Given the description of an element on the screen output the (x, y) to click on. 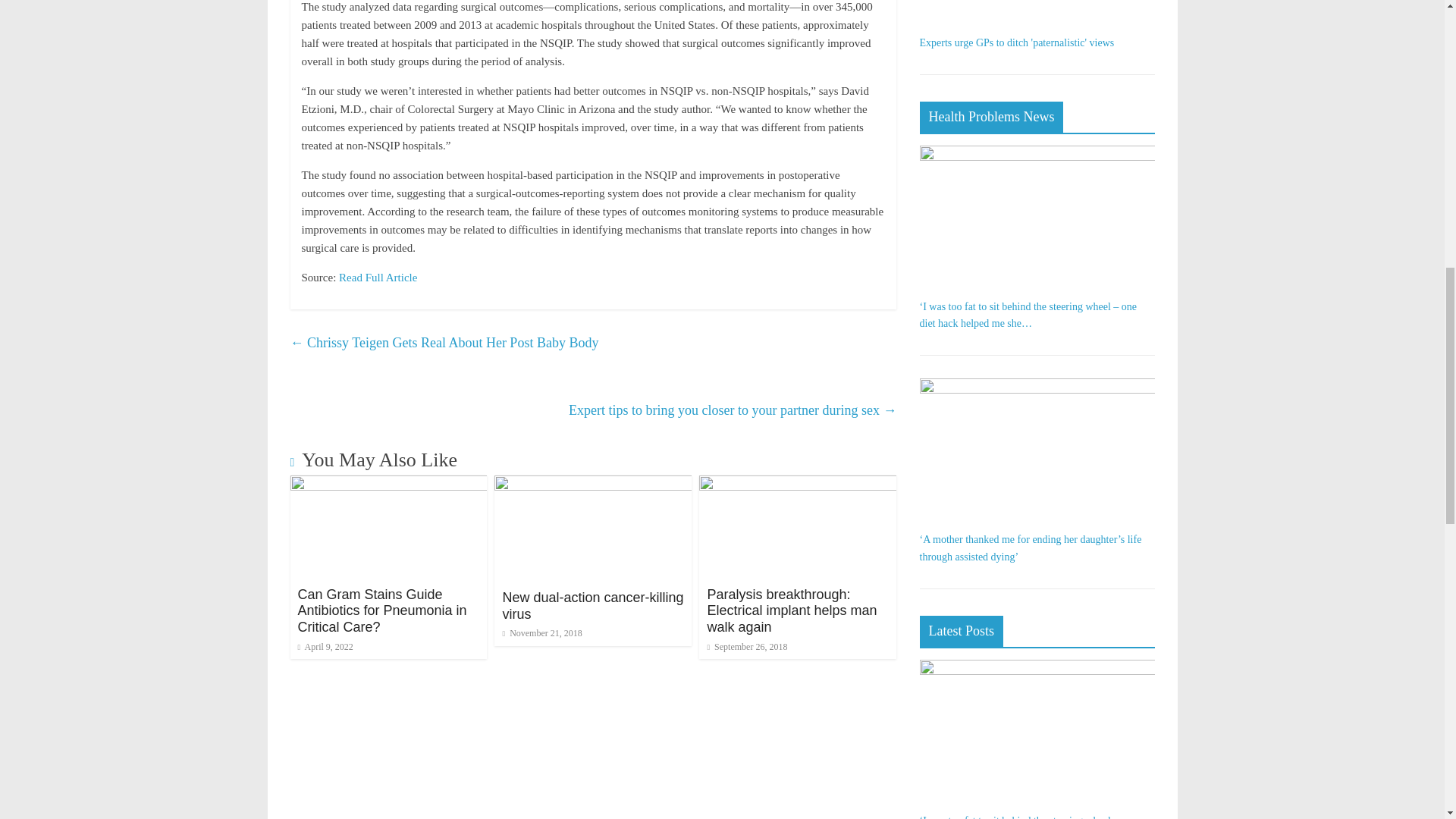
Read Full Article (377, 277)
November 21, 2018 (541, 633)
New dual-action cancer-killing virus (592, 605)
12:07 pm (746, 646)
April 9, 2022 (324, 646)
4:07 pm (541, 633)
New dual-action cancer-killing virus (593, 484)
New dual-action cancer-killing virus (592, 605)
1:00 am (324, 646)
